Given the description of an element on the screen output the (x, y) to click on. 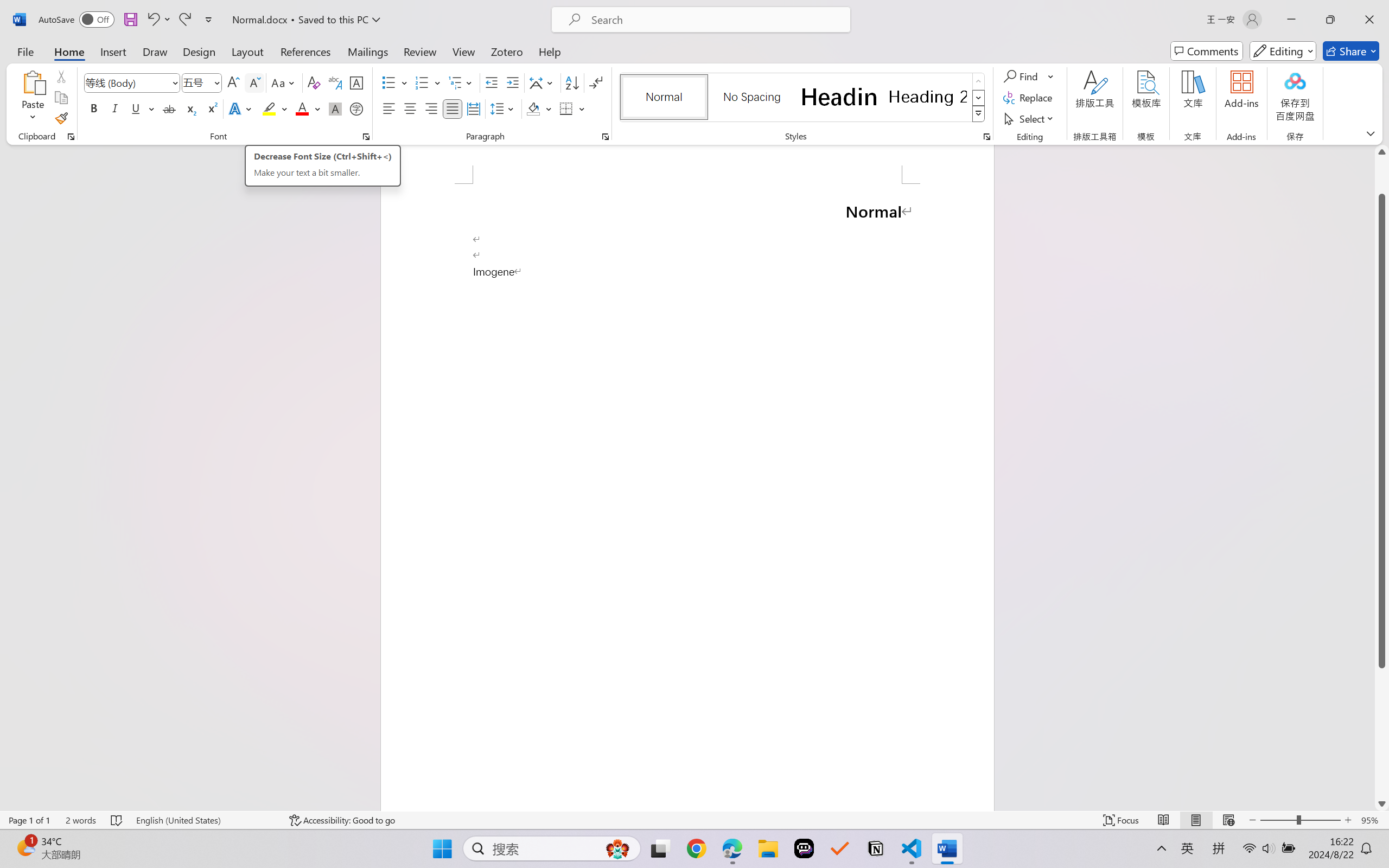
Accessibility Checker Accessibility: Good to go (208, 837)
Close this message (1379, 47)
